Given the description of an element on the screen output the (x, y) to click on. 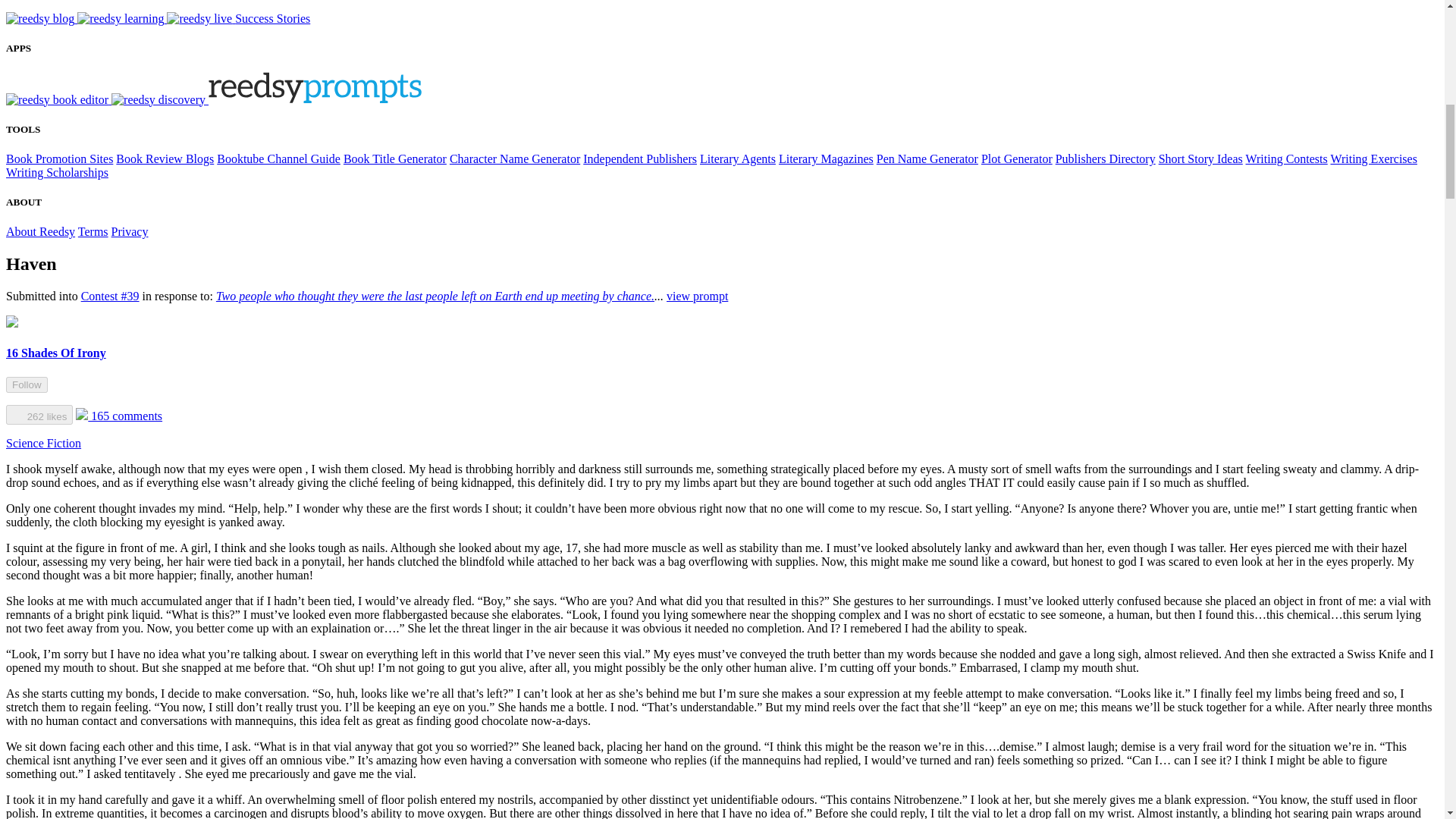
165 comments (118, 415)
